Given the description of an element on the screen output the (x, y) to click on. 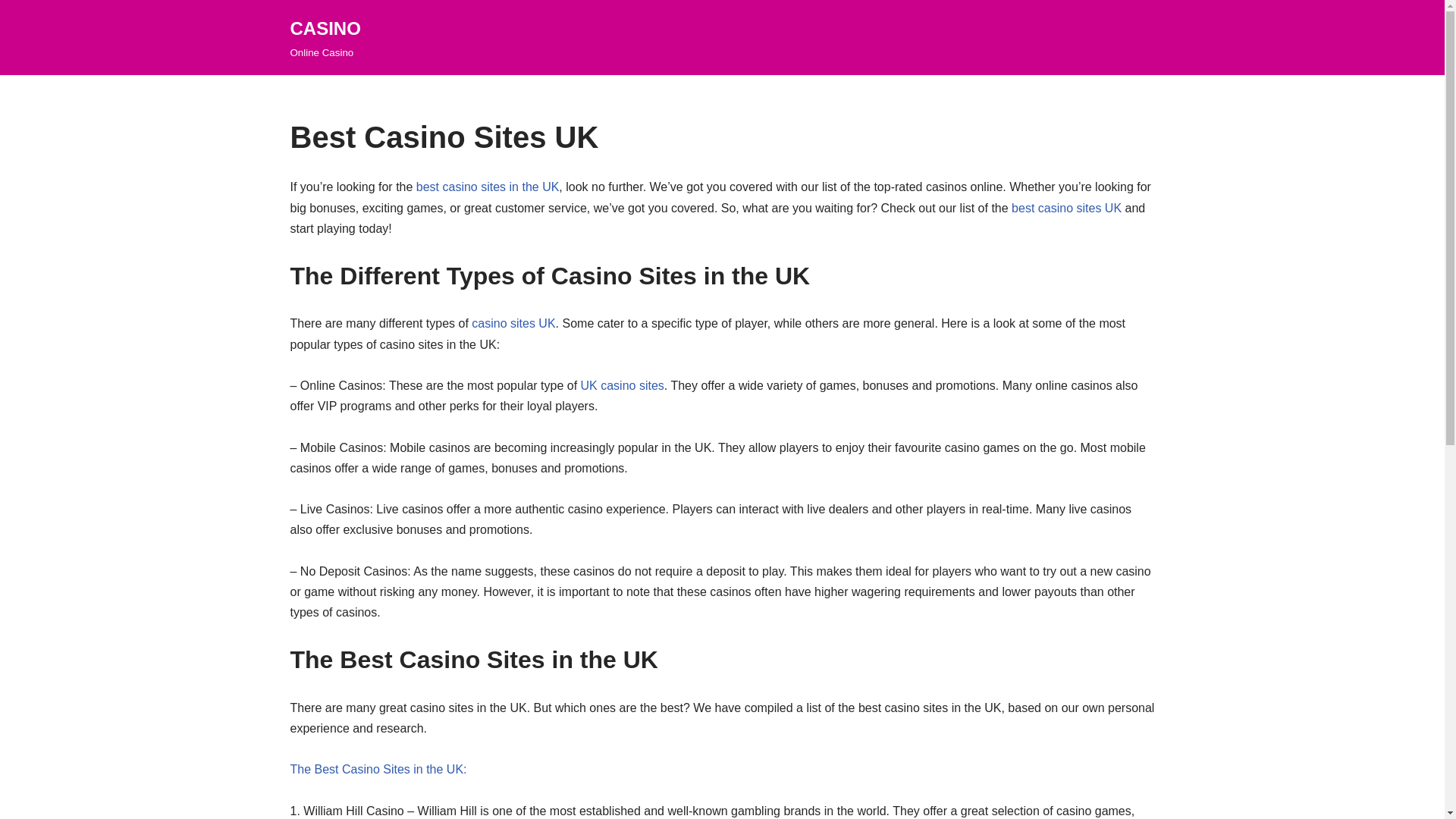
The Best Casino Sites in the UK: Element type: text (377, 768)
casino sites UK Element type: text (513, 322)
best casino sites in the UK Element type: text (487, 186)
CASINO
Online Casino Element type: text (324, 37)
Skip to content Element type: text (11, 31)
best casino sites UK Element type: text (1066, 207)
UK casino sites Element type: text (622, 385)
